Given the description of an element on the screen output the (x, y) to click on. 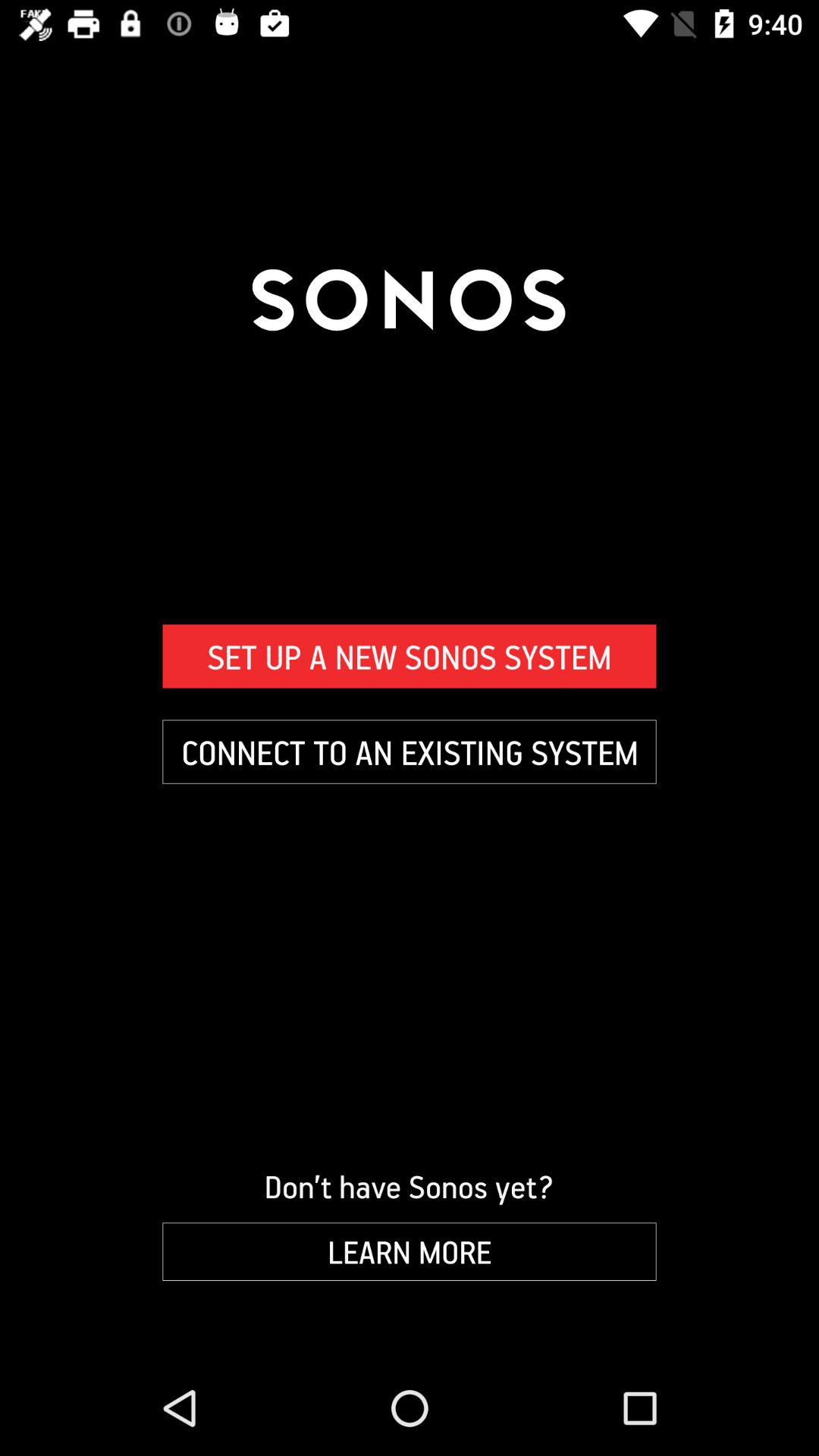
scroll to set up a icon (409, 656)
